Given the description of an element on the screen output the (x, y) to click on. 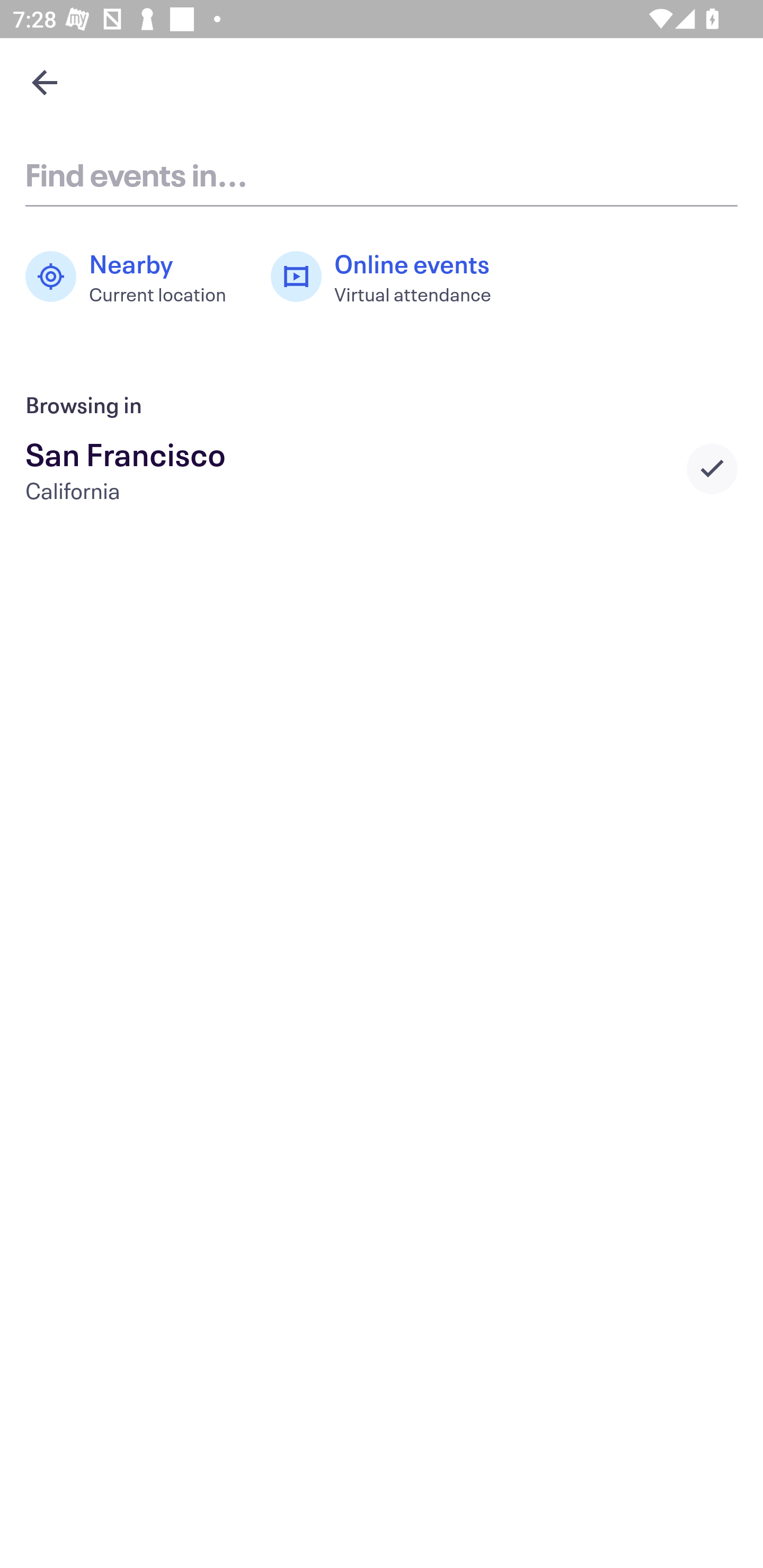
Navigate up (44, 82)
Find events in... (381, 173)
Nearby Current location (135, 276)
Online events Virtual attendance (390, 276)
San Francisco California Selected city (381, 468)
